Given the description of an element on the screen output the (x, y) to click on. 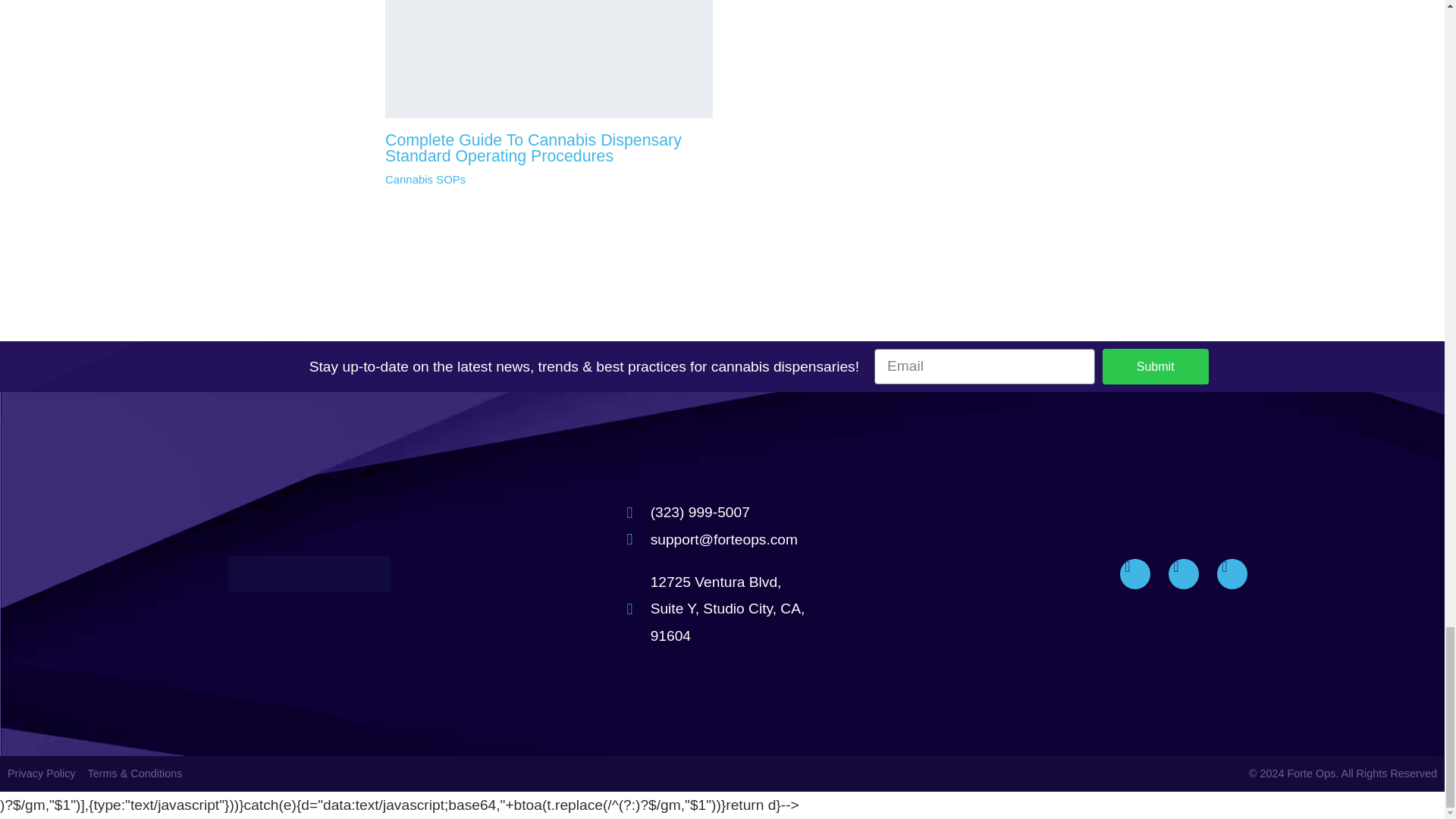
Submit (1155, 366)
Facebook (1232, 573)
Privacy Policy (41, 773)
Instagram (1134, 573)
Linkedin (1183, 573)
Cannabis SOPs (425, 178)
